Given the description of an element on the screen output the (x, y) to click on. 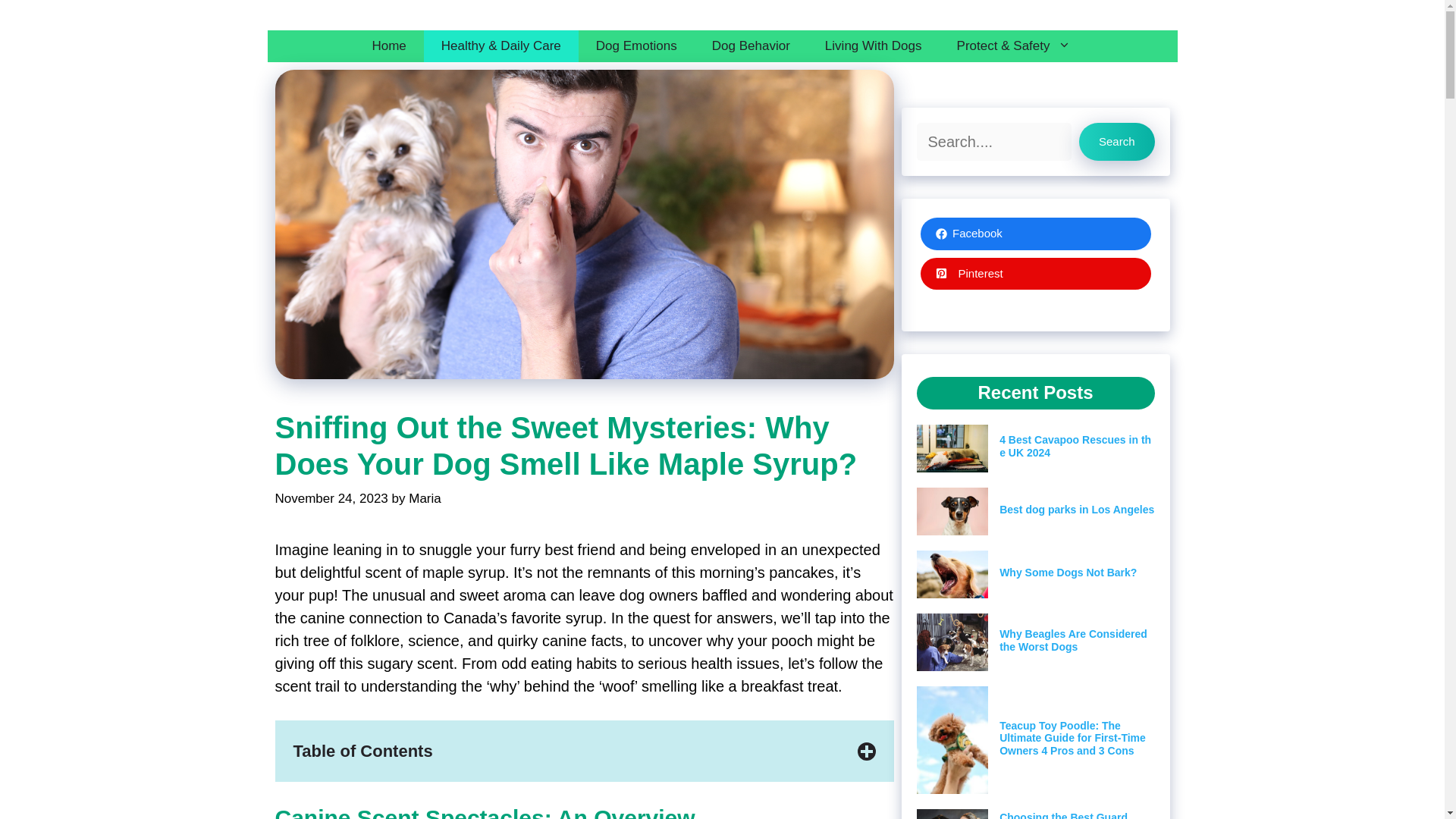
View all posts by Maria (425, 498)
Home (388, 46)
Search (1116, 141)
Living With Dogs (873, 46)
Maria (425, 498)
Dog Emotions (636, 46)
Dog Behavior (751, 46)
